Given the description of an element on the screen output the (x, y) to click on. 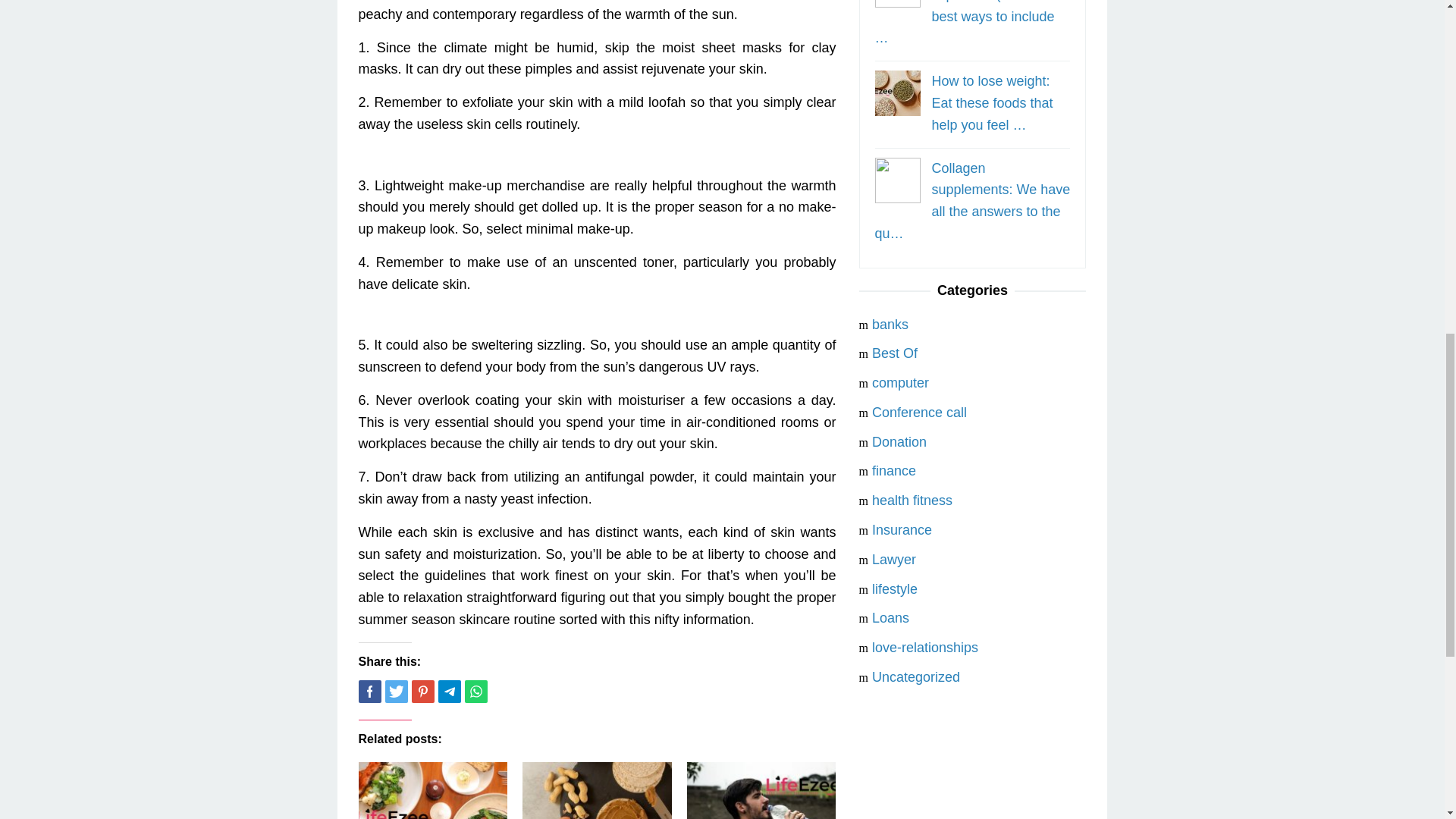
Pin this (421, 691)
Telegram Share (449, 691)
Whatsapp (475, 691)
Tweet this (396, 691)
Share this (369, 691)
